Given the description of an element on the screen output the (x, y) to click on. 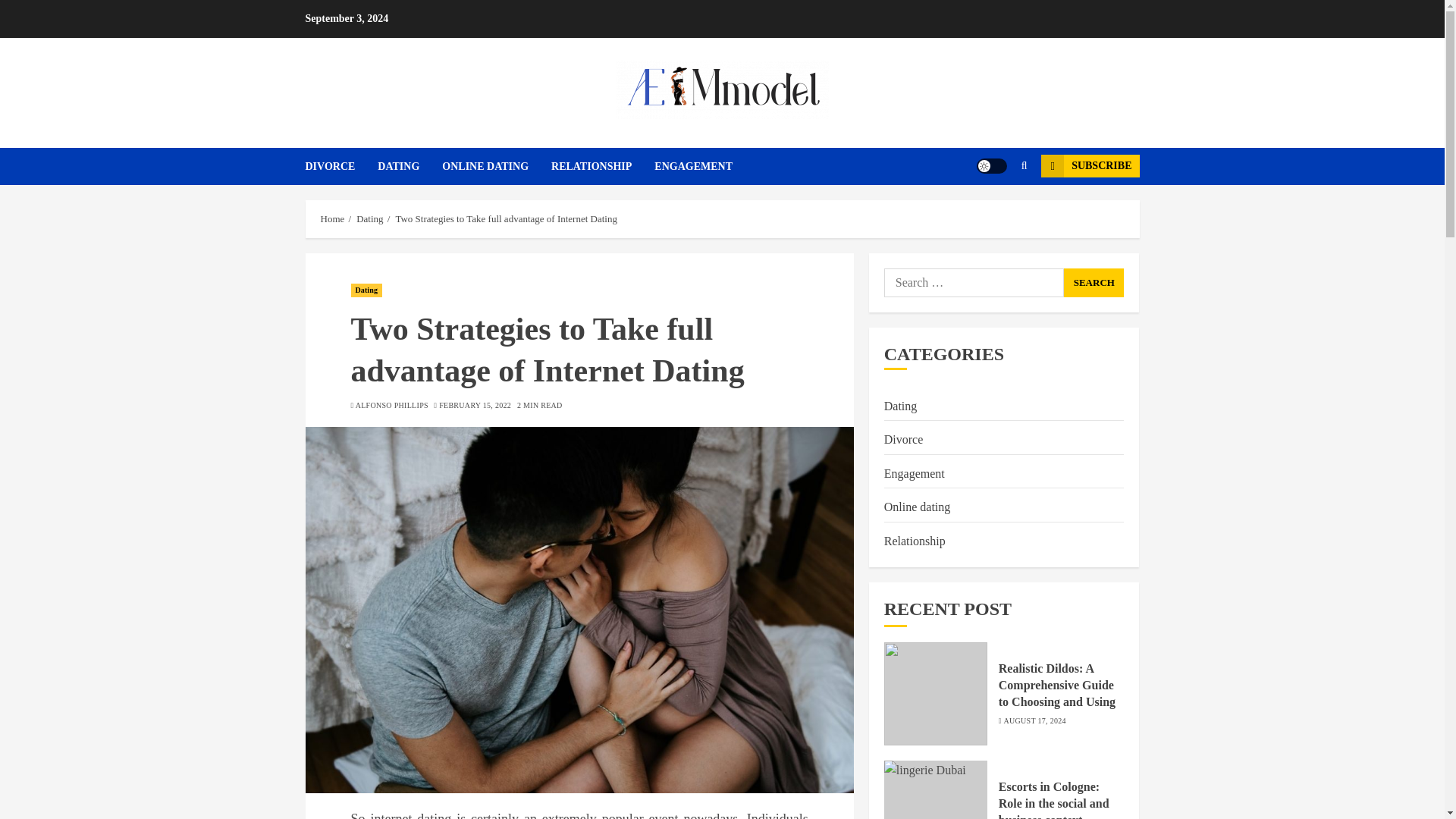
Home (331, 218)
FEBRUARY 15, 2022 (475, 405)
Search (1094, 282)
RELATIONSHIP (602, 166)
Two Strategies to Take full advantage of Internet Dating (505, 218)
SUBSCRIBE (1089, 165)
DATING (409, 166)
Dating (369, 218)
ENGAGEMENT (692, 166)
